Given the description of an element on the screen output the (x, y) to click on. 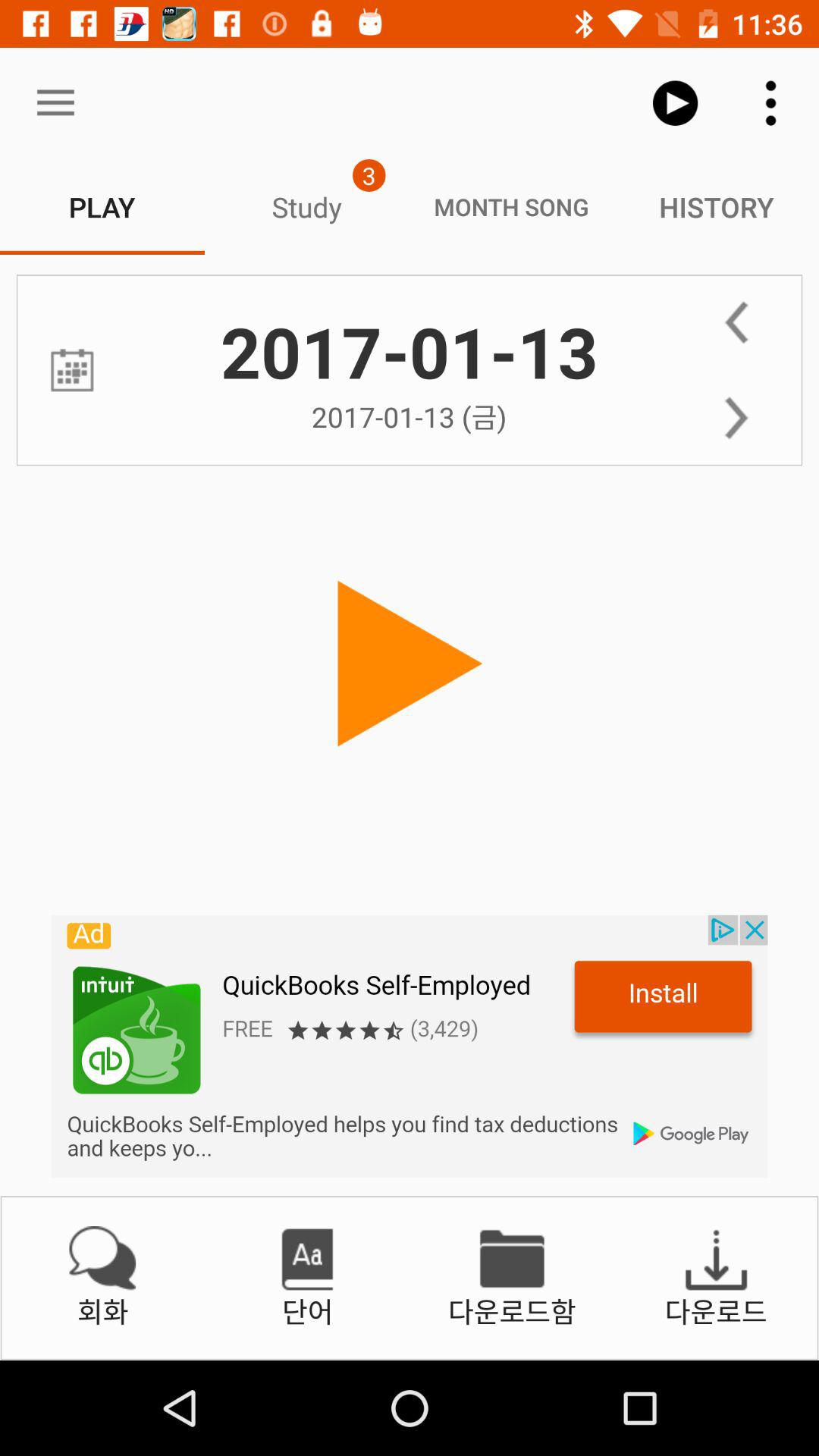
go to back (736, 322)
